Given the description of an element on the screen output the (x, y) to click on. 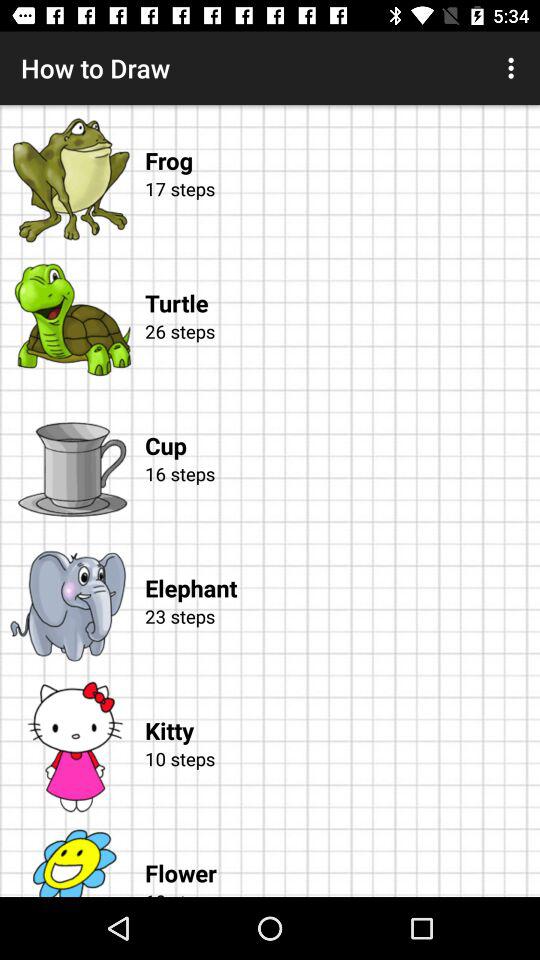
jump until the frog item (342, 140)
